Given the description of an element on the screen output the (x, y) to click on. 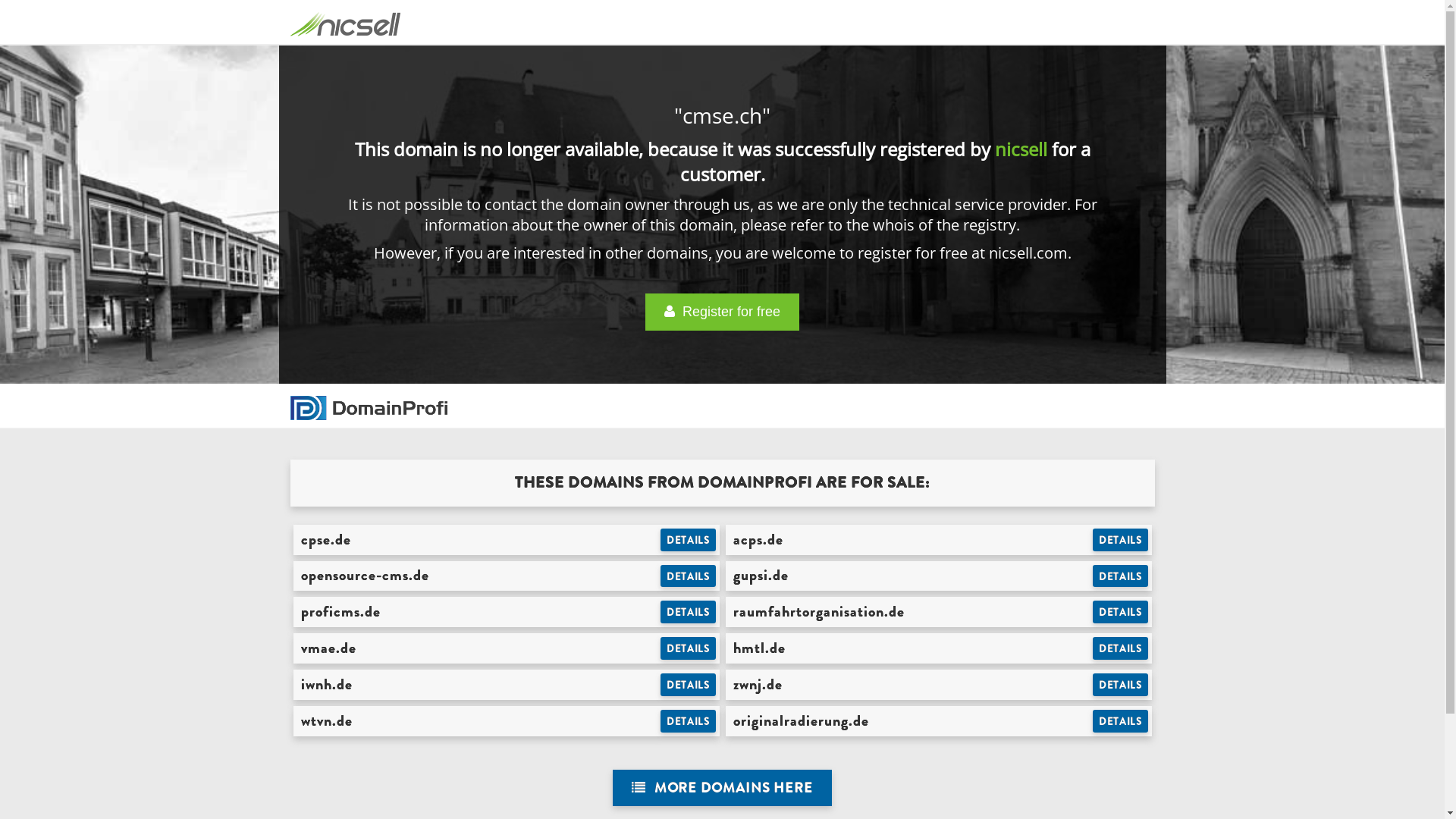
nicsell Element type: text (1020, 148)
DETAILS Element type: text (687, 684)
DETAILS Element type: text (1120, 648)
DETAILS Element type: text (1120, 684)
  Register for free Element type: text (722, 311)
DETAILS Element type: text (1120, 575)
DETAILS Element type: text (1120, 720)
DETAILS Element type: text (1120, 611)
DETAILS Element type: text (687, 648)
DETAILS Element type: text (687, 611)
DETAILS Element type: text (687, 575)
DETAILS Element type: text (687, 539)
DETAILS Element type: text (687, 720)
DETAILS Element type: text (1120, 539)
  MORE DOMAINS HERE Element type: text (721, 787)
